Given the description of an element on the screen output the (x, y) to click on. 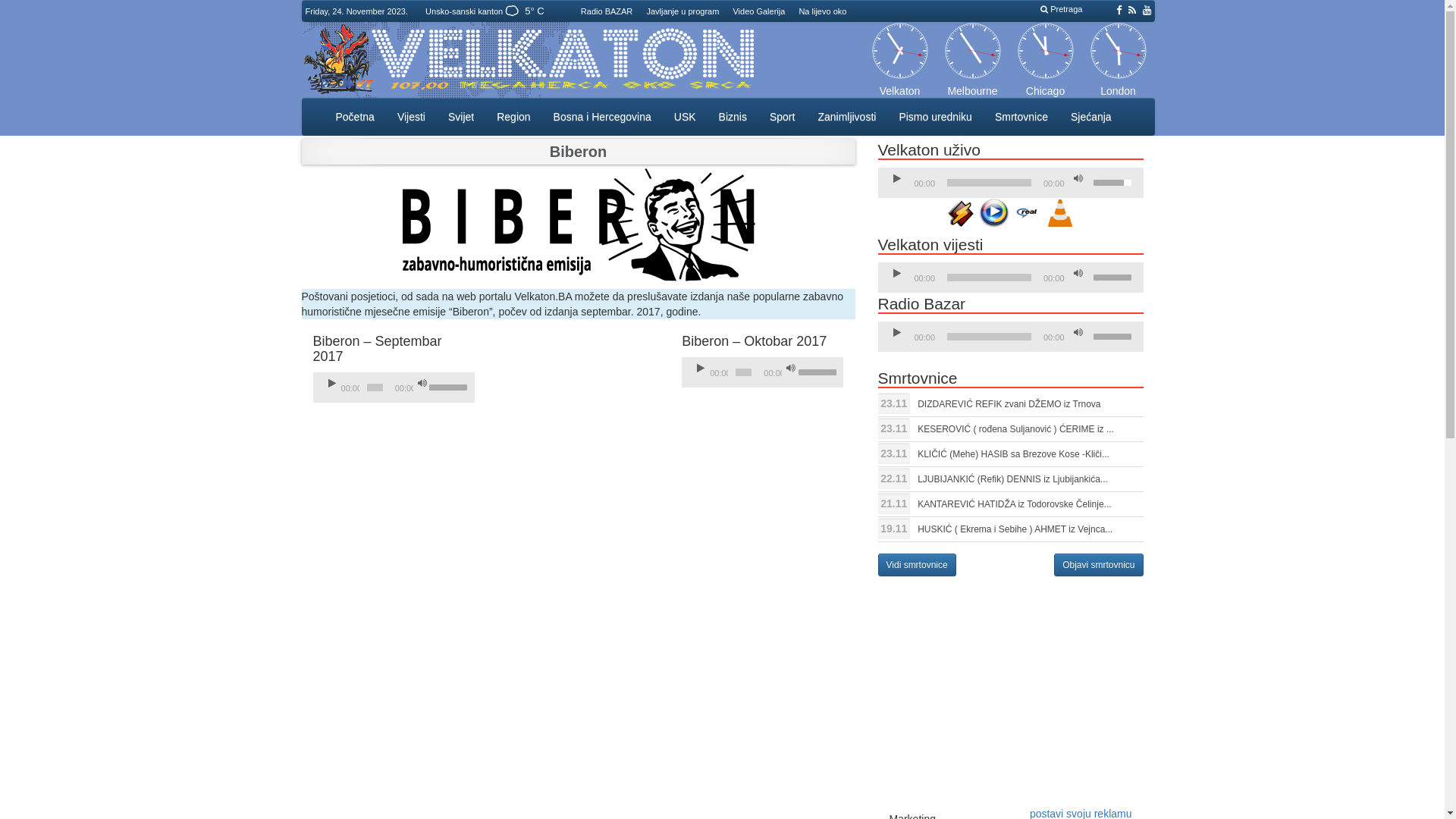
Radio BAZAR Element type: text (606, 10)
Javljanje u program Element type: text (682, 10)
USK Element type: text (684, 116)
Bosna i Hercegovina Element type: text (602, 116)
Pismo uredniku Element type: text (935, 116)
Vidi smrtovnice Element type: text (917, 564)
Sport Element type: text (782, 116)
Region Element type: text (513, 116)
Video Galerija Element type: text (758, 10)
Vijesti Element type: text (410, 116)
Smrtovnice Element type: text (1021, 116)
Biznis Element type: text (732, 116)
Ugasi zvuk Element type: hover (1077, 273)
Na lijevo oko Element type: text (822, 10)
Ugasi zvuk Element type: hover (422, 383)
Objavi smrtovnicu Element type: text (1098, 564)
Advertisement Element type: hover (1005, 689)
Ugasi zvuk Element type: hover (1077, 178)
Ugasi zvuk Element type: hover (1077, 332)
Ugasi zvuk Element type: hover (790, 368)
Svijet Element type: text (460, 116)
Zanimljivosti Element type: text (846, 116)
